Given the description of an element on the screen output the (x, y) to click on. 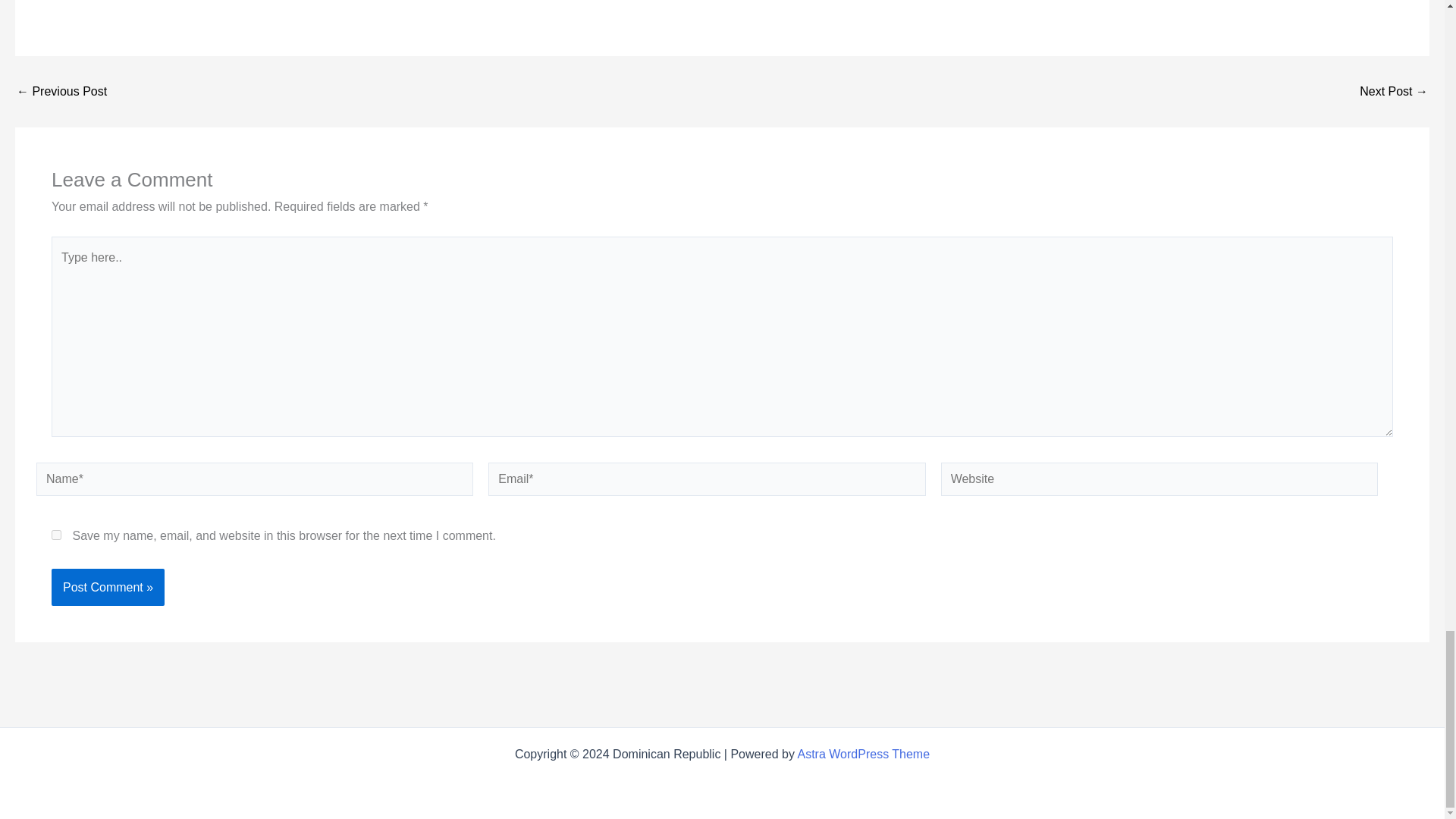
yes (55, 534)
A Foodie's Guide to the Dominican Republic (1393, 91)
Astra WordPress Theme (863, 753)
